Given the description of an element on the screen output the (x, y) to click on. 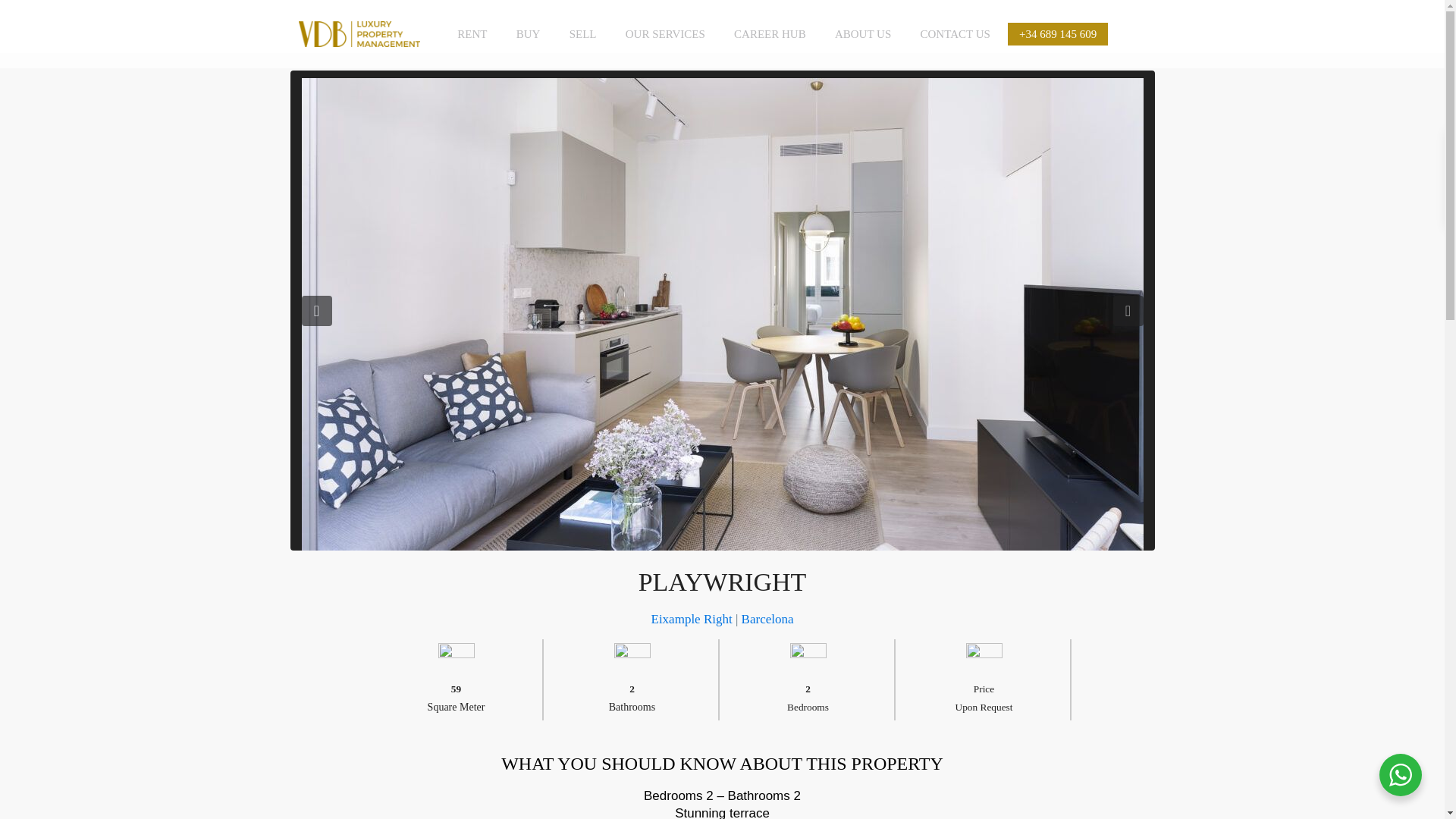
OUR SERVICES (665, 33)
CAREER HUB (769, 33)
CONTACT US (954, 33)
ABOUT US (863, 33)
